Given the description of an element on the screen output the (x, y) to click on. 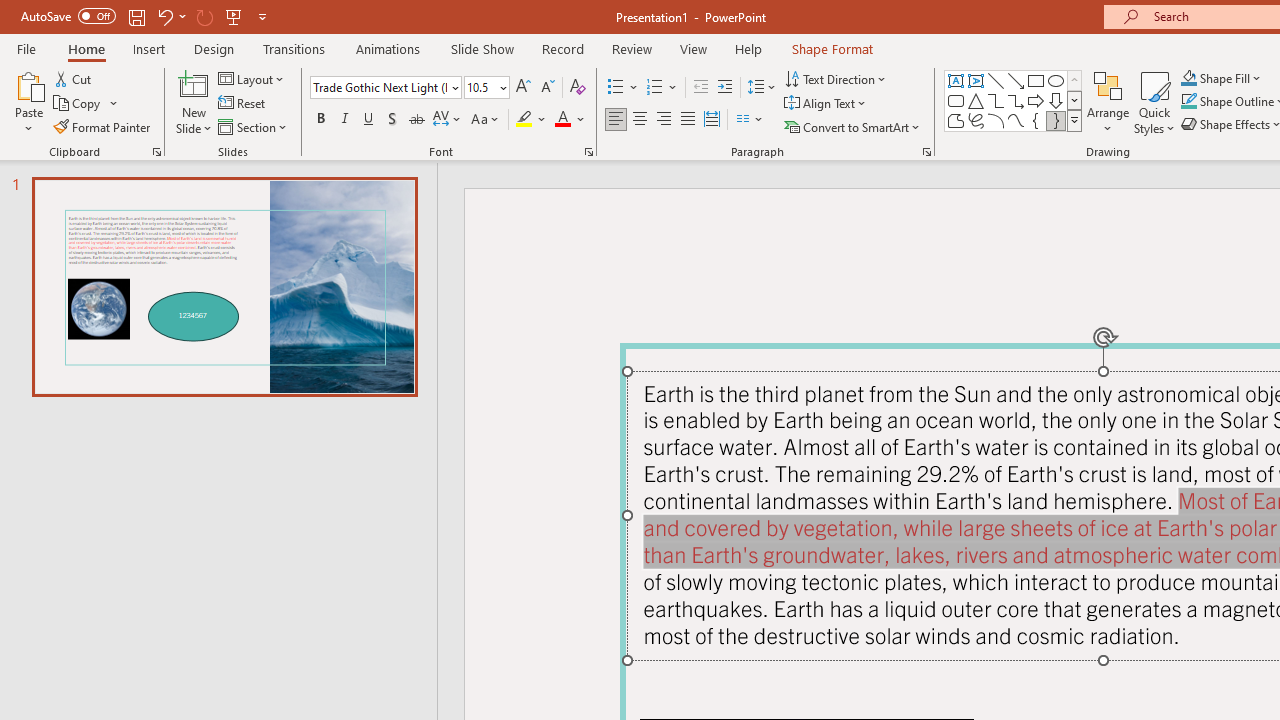
Arc (995, 120)
Shape Format (832, 48)
Vertical Text Box (975, 80)
Shape Fill Aqua, Accent 2 (1188, 78)
Shape Outline Teal, Accent 1 (1188, 101)
Italic (344, 119)
